Given the description of an element on the screen output the (x, y) to click on. 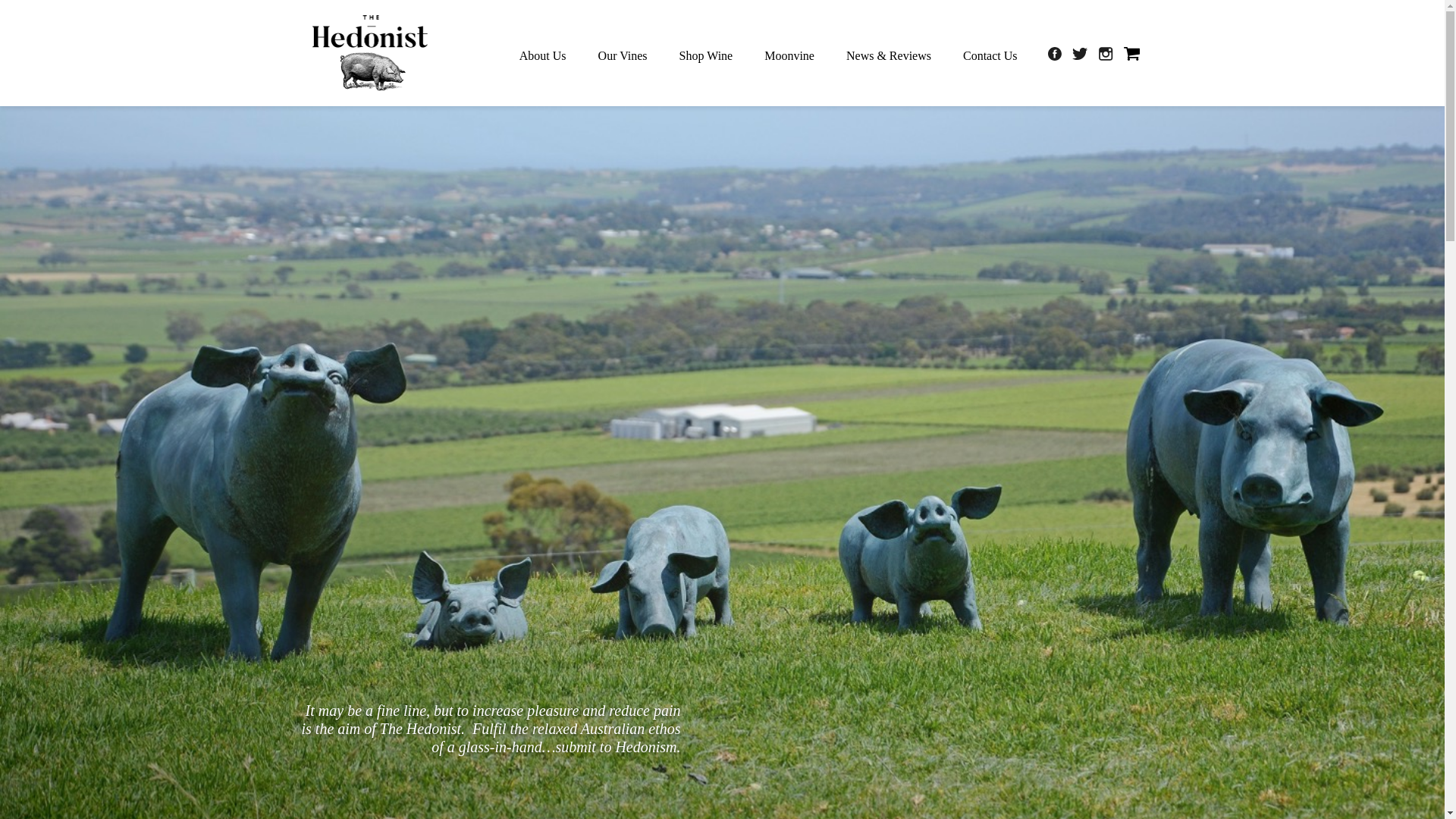
Our Vines Element type: text (622, 58)
Contact Us Element type: text (990, 58)
Hedonist Wines on Instagram Element type: text (1106, 52)
Hedonist Wines on Twitter Element type: text (1081, 52)
Shopping Cart Element type: text (1131, 52)
Moonvine Element type: text (788, 58)
About Us Element type: text (542, 58)
News & Reviews Element type: text (888, 58)
Hedonist Wines on Facebook Element type: text (1056, 52)
Shop Wine Element type: text (705, 58)
